Given the description of an element on the screen output the (x, y) to click on. 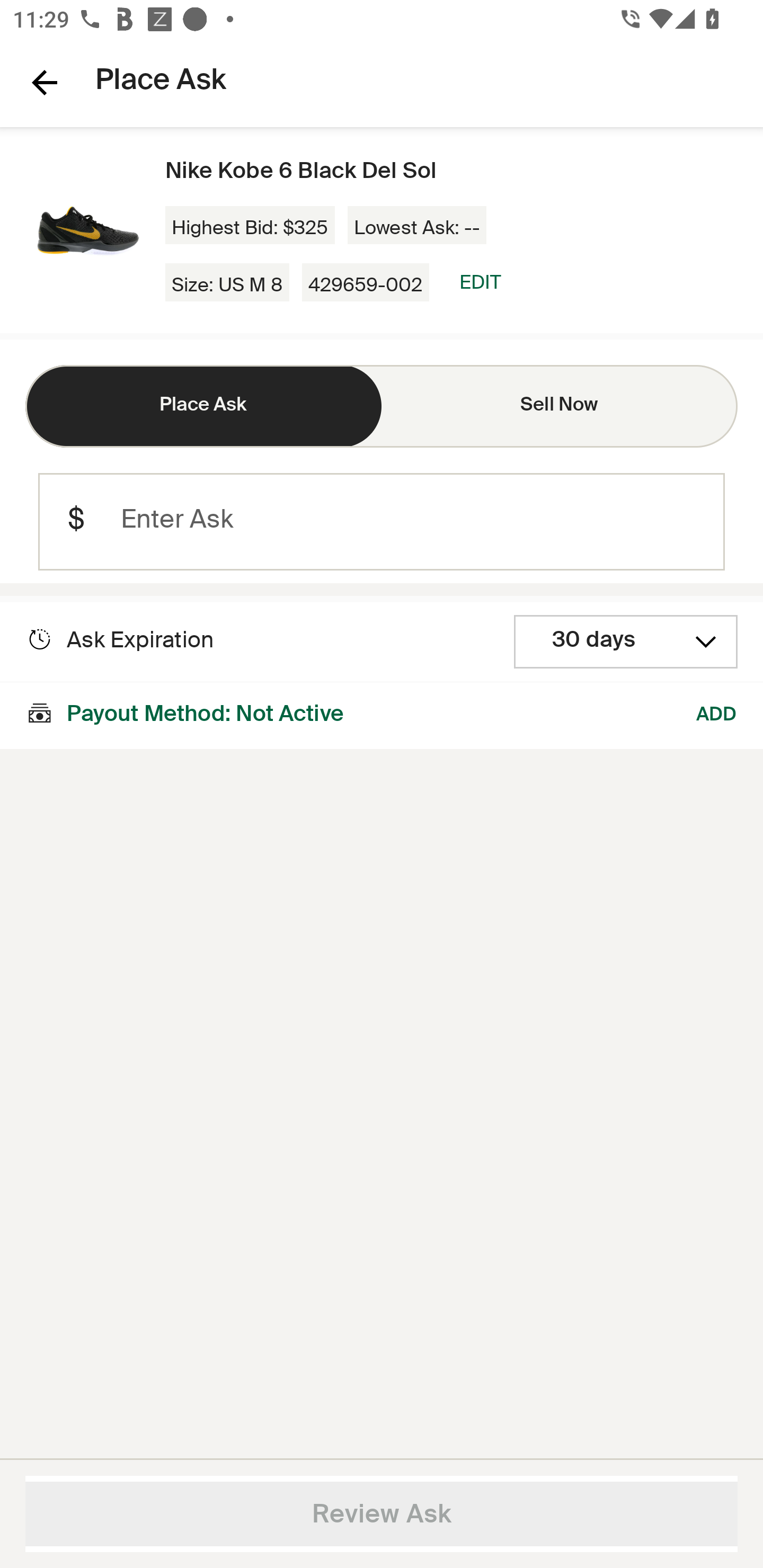
EDIT (479, 281)
Place Ask (203, 405)
Sell Now (559, 405)
$ Enter Ask (381, 521)
Expiration icon Ask Expiration (119, 640)
30 days Expiration dropdown arrow icon (625, 641)
ADD (717, 715)
reviewButtonContentDescriptionID Review Ask (381, 1513)
